Given the description of an element on the screen output the (x, y) to click on. 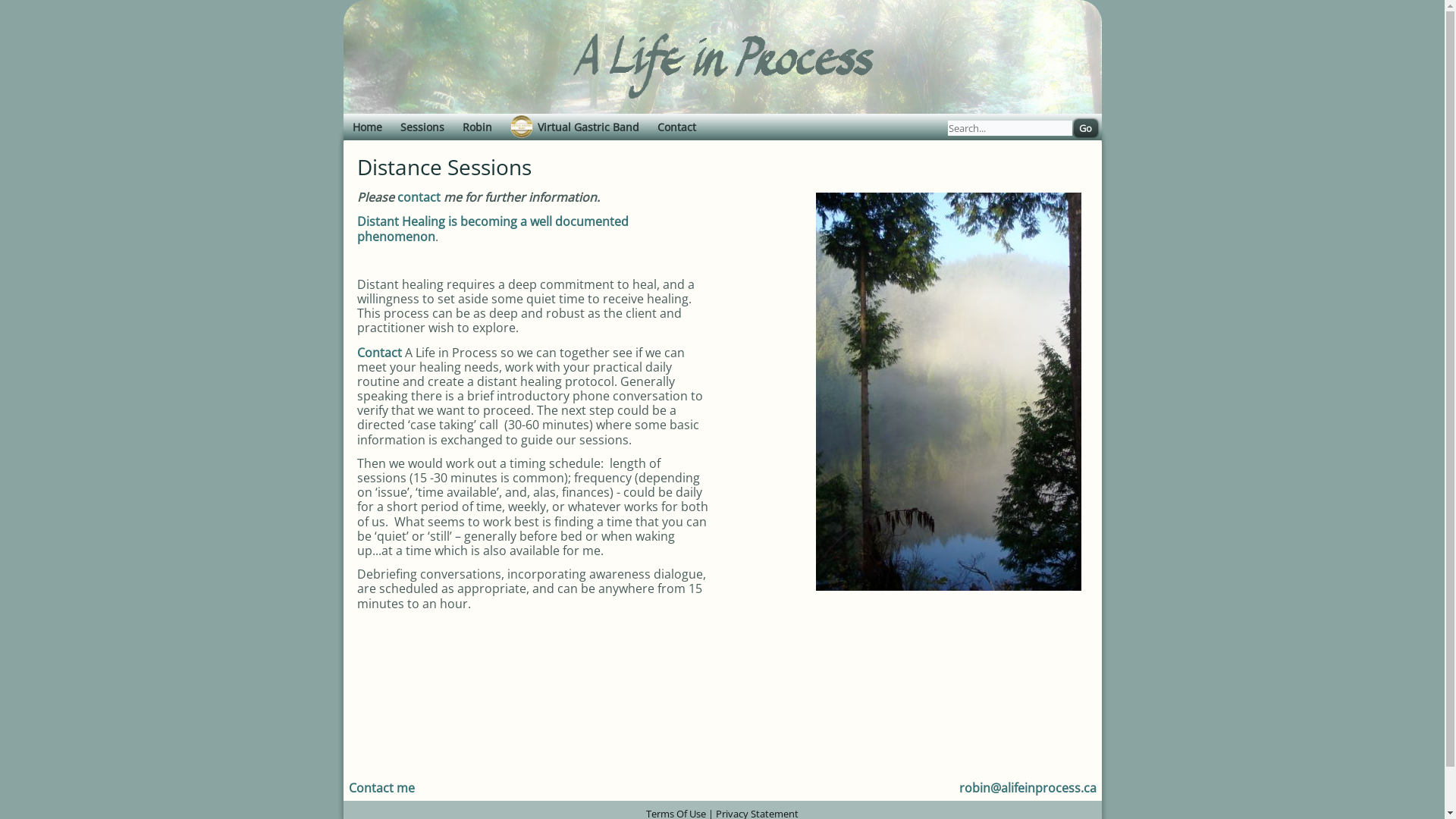
Contact me Element type: text (381, 787)
Sessions Element type: text (422, 126)
Virtual Gastric Band Element type: text (573, 126)
contact Element type: text (420, 196)
Home Element type: text (366, 126)
Distant Healing is becoming a well documented phenomenon Element type: text (491, 228)
Clear search text Element type: hover (1057, 147)
Go Element type: text (1085, 128)
robin@alifeinprocess.ca Element type: text (1026, 787)
Search Element type: hover (1085, 128)
Type in your search string and press Enter Element type: hover (1024, 127)
Contact Element type: text (675, 126)
Robin Element type: text (477, 126)
A Life in Process Element type: hover (722, 65)
Contact Element type: text (380, 352)
